Given the description of an element on the screen output the (x, y) to click on. 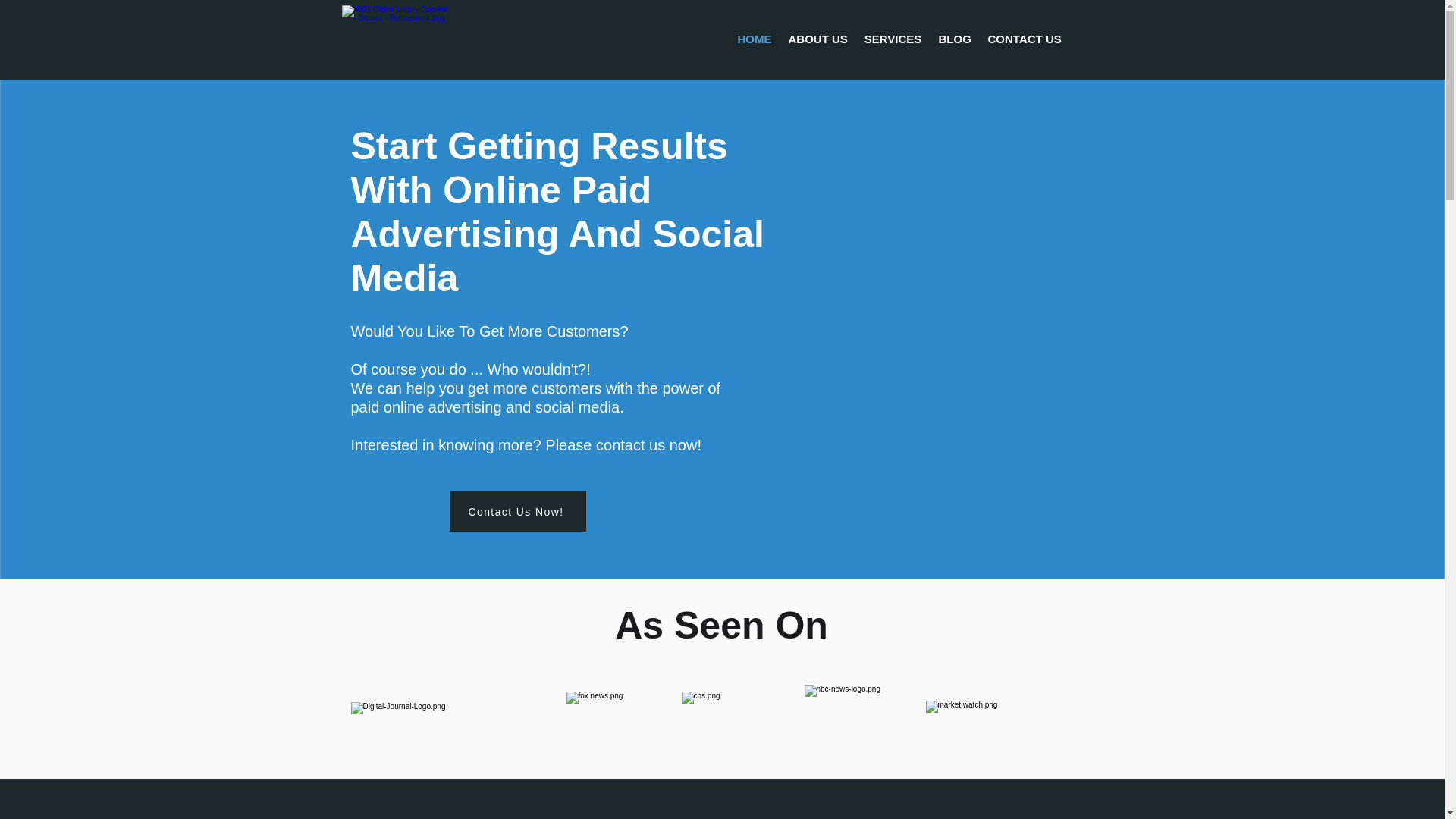
HOME Element type: text (754, 39)
ABOUT US Element type: text (817, 39)
Contact Us Now! Element type: text (516, 511)
CONTACT US Element type: text (1024, 39)
BLOG Element type: text (954, 39)
